Given the description of an element on the screen output the (x, y) to click on. 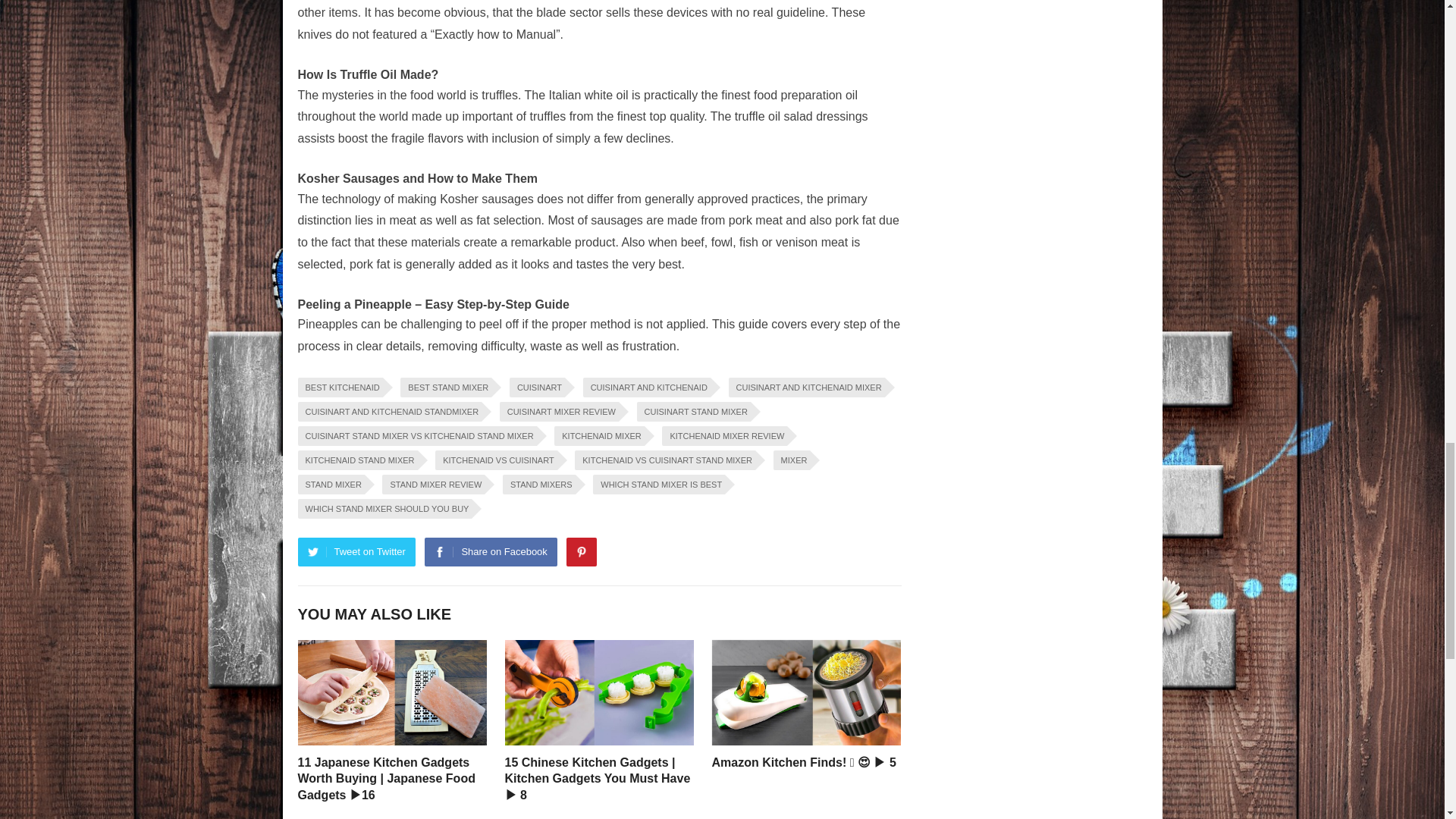
CUISINART AND KITCHENAID STANDMIXER (389, 411)
BEST STAND MIXER (446, 387)
CUISINART STAND MIXER VS KITCHENAID STAND MIXER (416, 435)
KITCHENAID VS CUISINART (496, 460)
KITCHENAID MIXER REVIEW (724, 435)
MIXER (791, 460)
CUISINART (536, 387)
STAND MIXER (330, 484)
KITCHENAID VS CUISINART STAND MIXER (665, 460)
BEST KITCHENAID (339, 387)
CUISINART AND KITCHENAID MIXER (805, 387)
CUISINART AND KITCHENAID (646, 387)
KITCHENAID STAND MIXER (356, 460)
KITCHENAID MIXER (599, 435)
CUISINART MIXER REVIEW (558, 411)
